Given the description of an element on the screen output the (x, y) to click on. 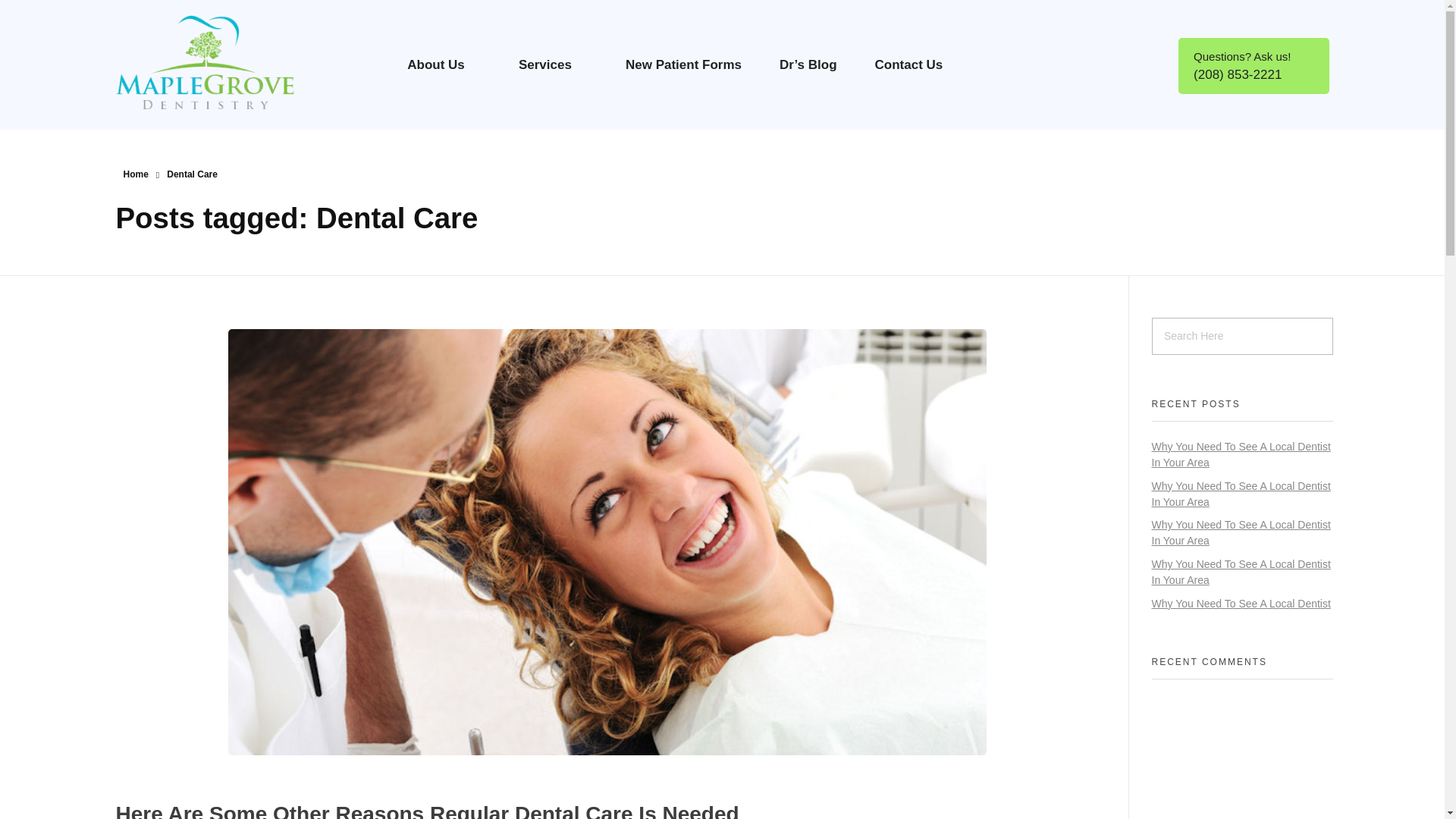
About Us (443, 64)
Here Are Some Other Reasons Regular Dental Care Is Needed (426, 810)
Home (135, 173)
Maple Grove Dentistry (219, 61)
Services (553, 64)
Why You Need To See A Local Dentist In Your Area (1240, 454)
Contact Us (909, 64)
Why You Need To See A Local Dentist In Your Area (1240, 532)
New Patient Forms (683, 64)
Maple Grove Dentistry (211, 117)
Search (42, 13)
Maple Grove Dentistry (211, 117)
Why You Need To See A Local Dentist In Your Area (1240, 493)
Home (135, 173)
Why You Need To See A Local Dentist In Your Area (1240, 571)
